Given the description of an element on the screen output the (x, y) to click on. 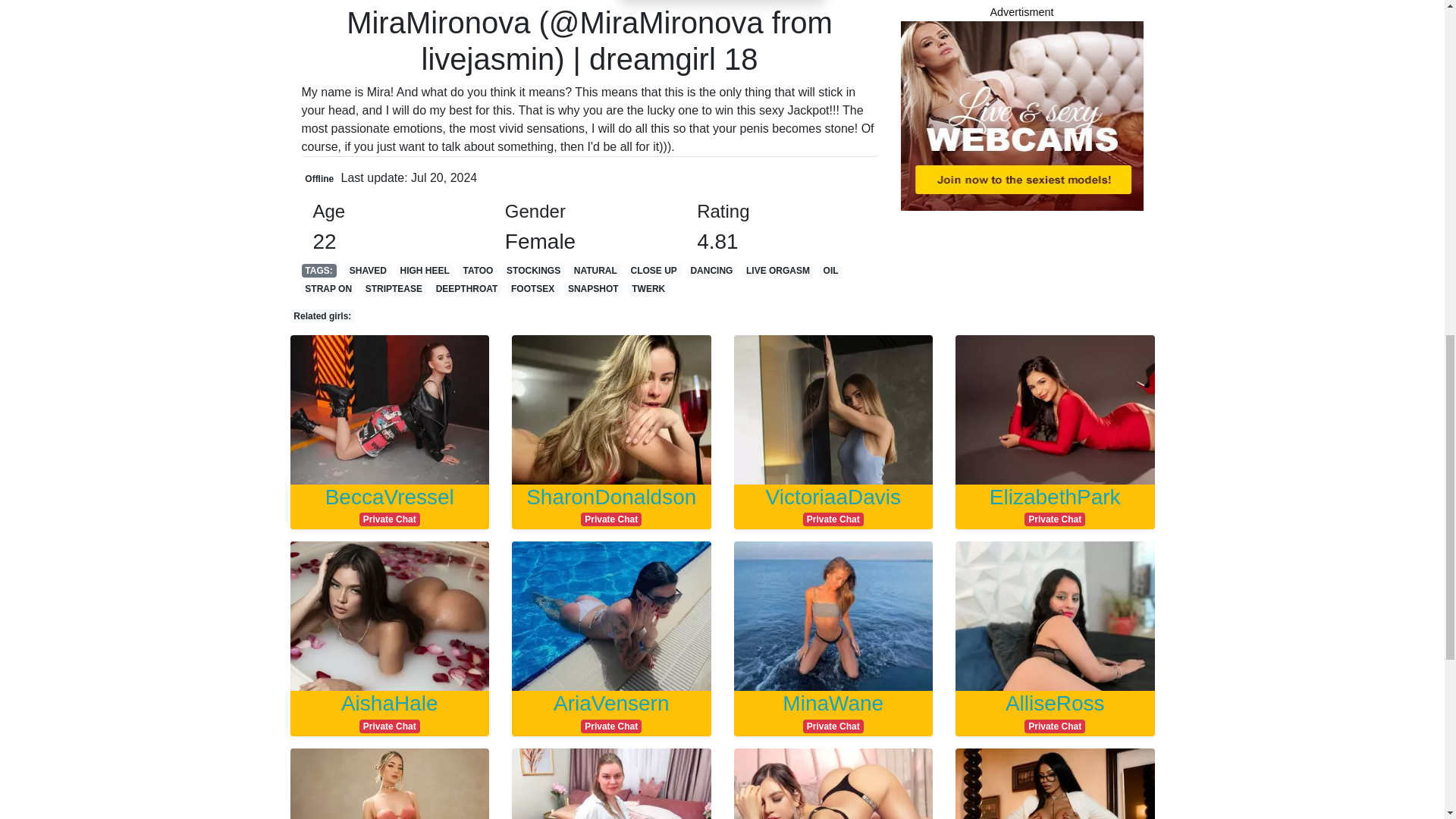
BeccaVressel livejasmin (611, 504)
VictoriaaDavis livejasmin (389, 711)
ElizabethPark livejasmin (389, 504)
BeccaVressel livejasmin (833, 504)
SharonDonaldson livejasmin (1054, 408)
SharonDonaldson livejasmin (833, 504)
VictoriaaDavis livejasmin (389, 408)
